Given the description of an element on the screen output the (x, y) to click on. 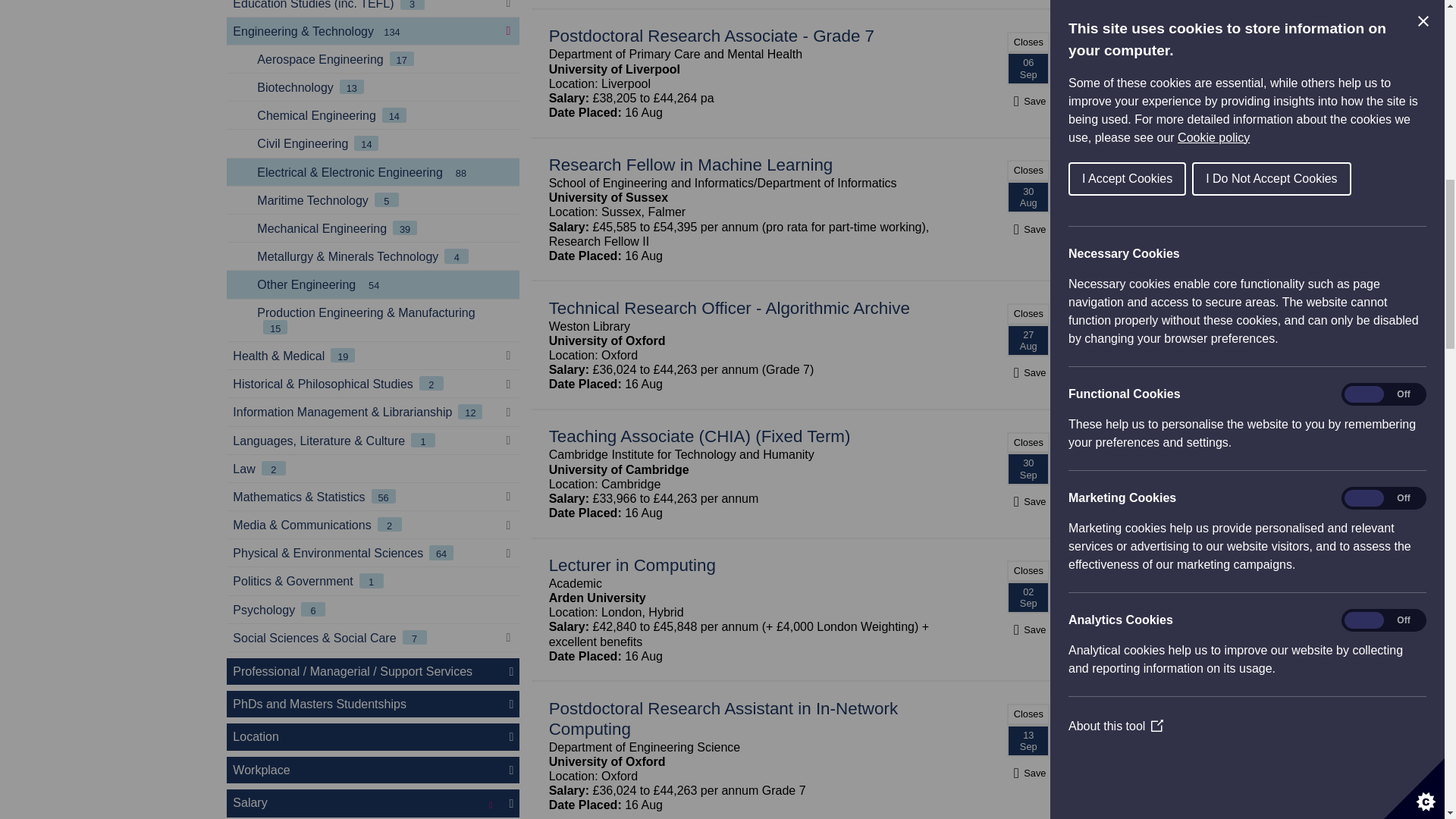
Save job (1027, 772)
Save job (1027, 629)
Save job (1027, 229)
Save job (1027, 372)
Save job (1027, 100)
Save job (1027, 501)
